Given the description of an element on the screen output the (x, y) to click on. 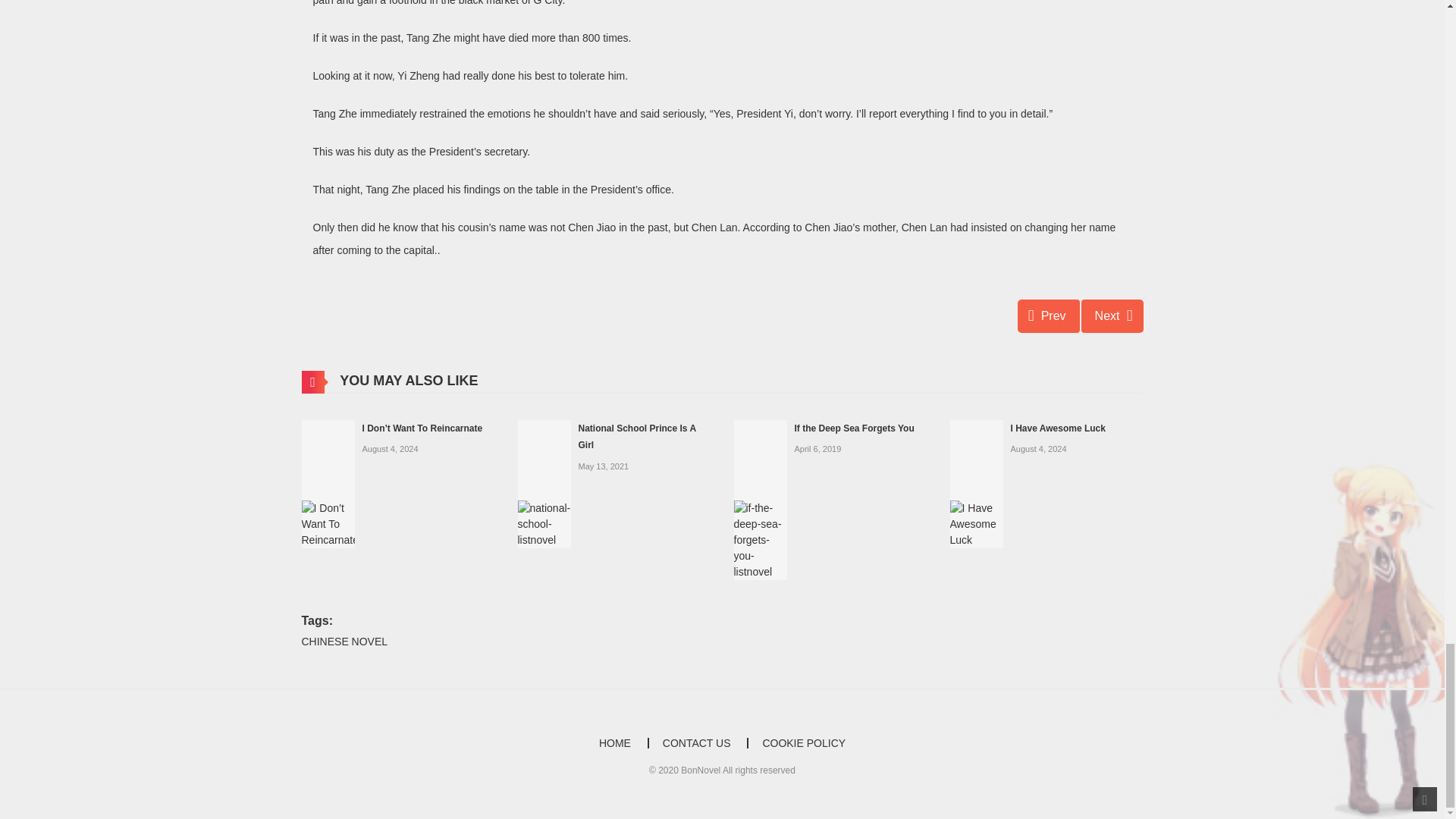
If the Deep Sea Forgets You (760, 499)
Chapter 724 (1111, 315)
If the Deep Sea Forgets You (854, 428)
I Have Awesome Luck (976, 482)
National School Prince Is A Girl (636, 437)
National School Prince Is A Girl (543, 482)
Chapter 722 (1048, 315)
